Given the description of an element on the screen output the (x, y) to click on. 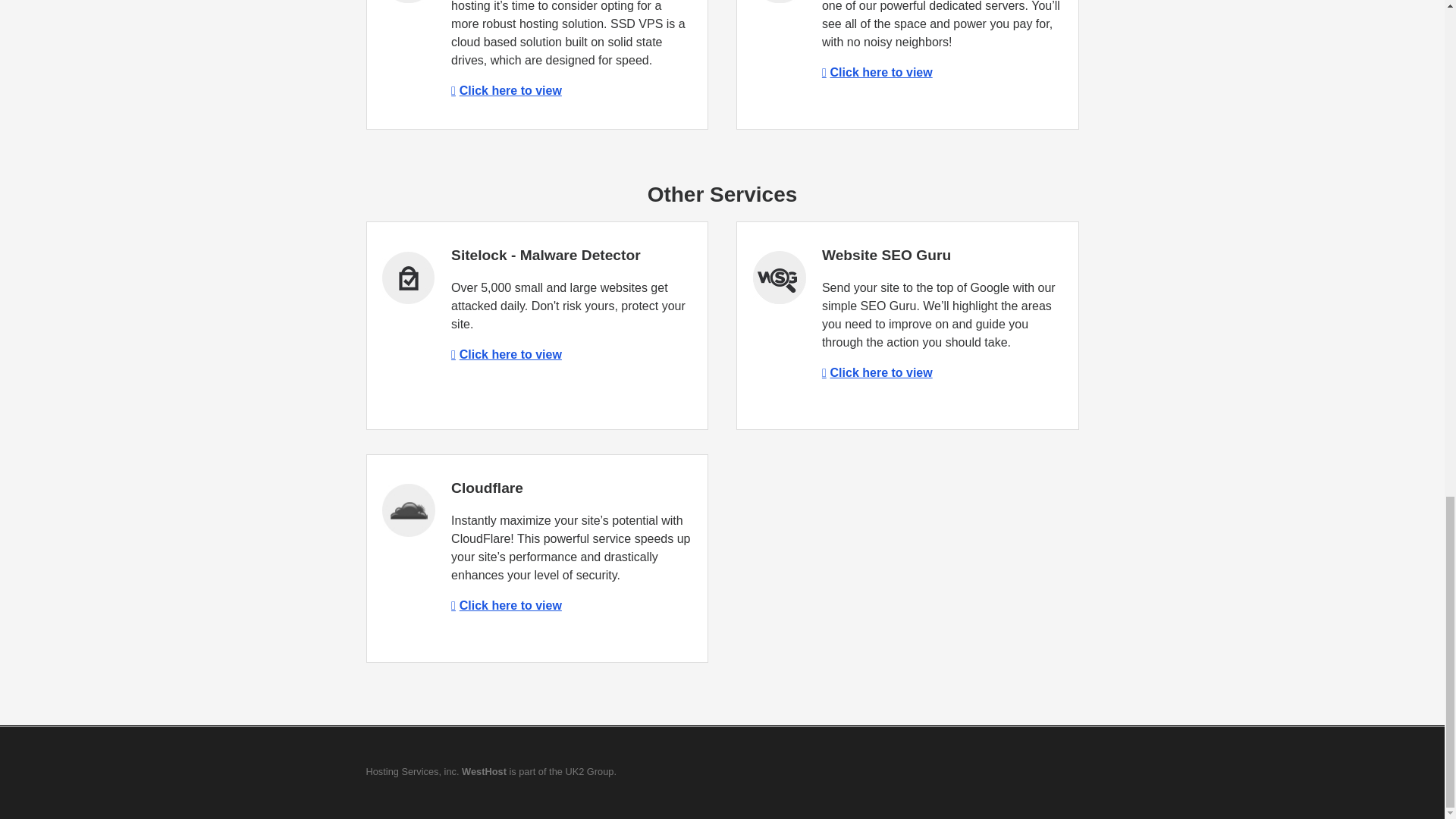
Click here to view (506, 90)
Click here to view (506, 354)
Click here to view (877, 372)
Click here to view (877, 72)
WestHost (483, 771)
Click here to view (506, 604)
